Given the description of an element on the screen output the (x, y) to click on. 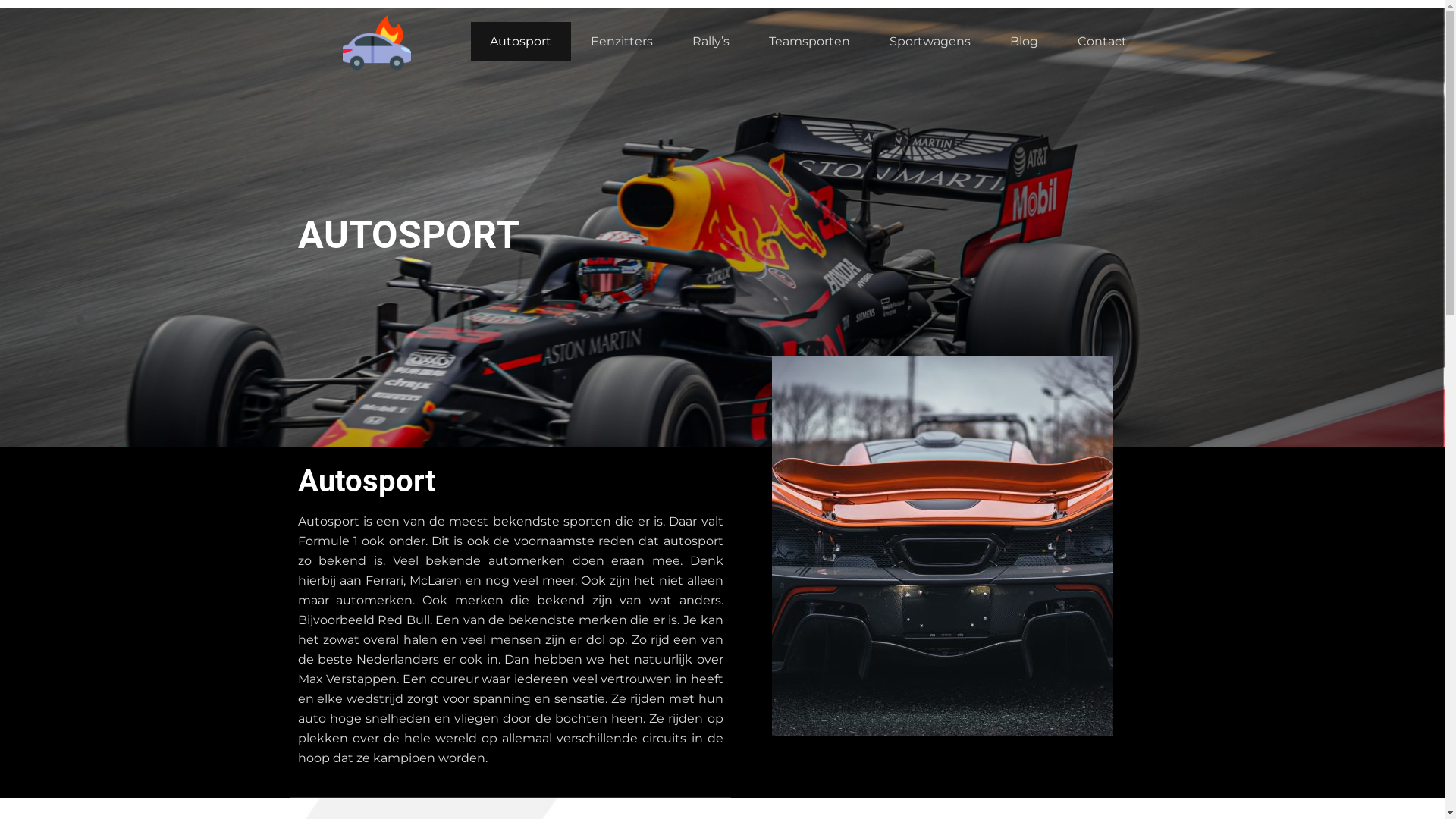
Contact Element type: text (1101, 41)
Teamsporten Element type: text (809, 41)
Autosport Element type: text (520, 41)
brandon-atchison-ndrjunfmqwY-unsplash Element type: hover (942, 545)
Eenzitters Element type: text (621, 41)
Sportwagens Element type: text (929, 41)
icons8-car-fire-96 Element type: hover (376, 41)
Blog Element type: text (1023, 41)
